Given the description of an element on the screen output the (x, y) to click on. 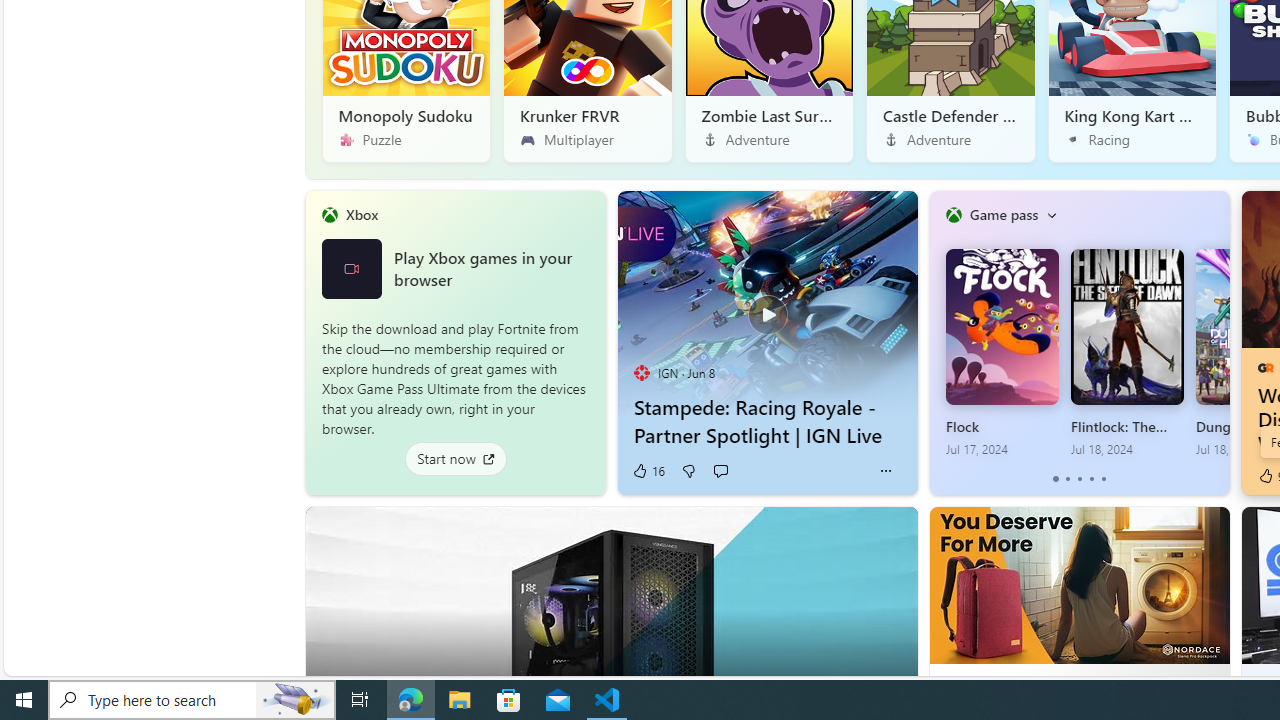
Stampede: Racing Royale - Partner Spotlight | IGN Live (766, 303)
tab-1 (1067, 479)
Hide this story (857, 530)
16 Like (648, 471)
Xbox (361, 214)
Xbox Logo (351, 268)
tab-2 (1078, 479)
Stampede: Racing Royale - Partner Spotlight | IGN Live (767, 421)
Class: previous-flipper (939, 342)
